Given the description of an element on the screen output the (x, y) to click on. 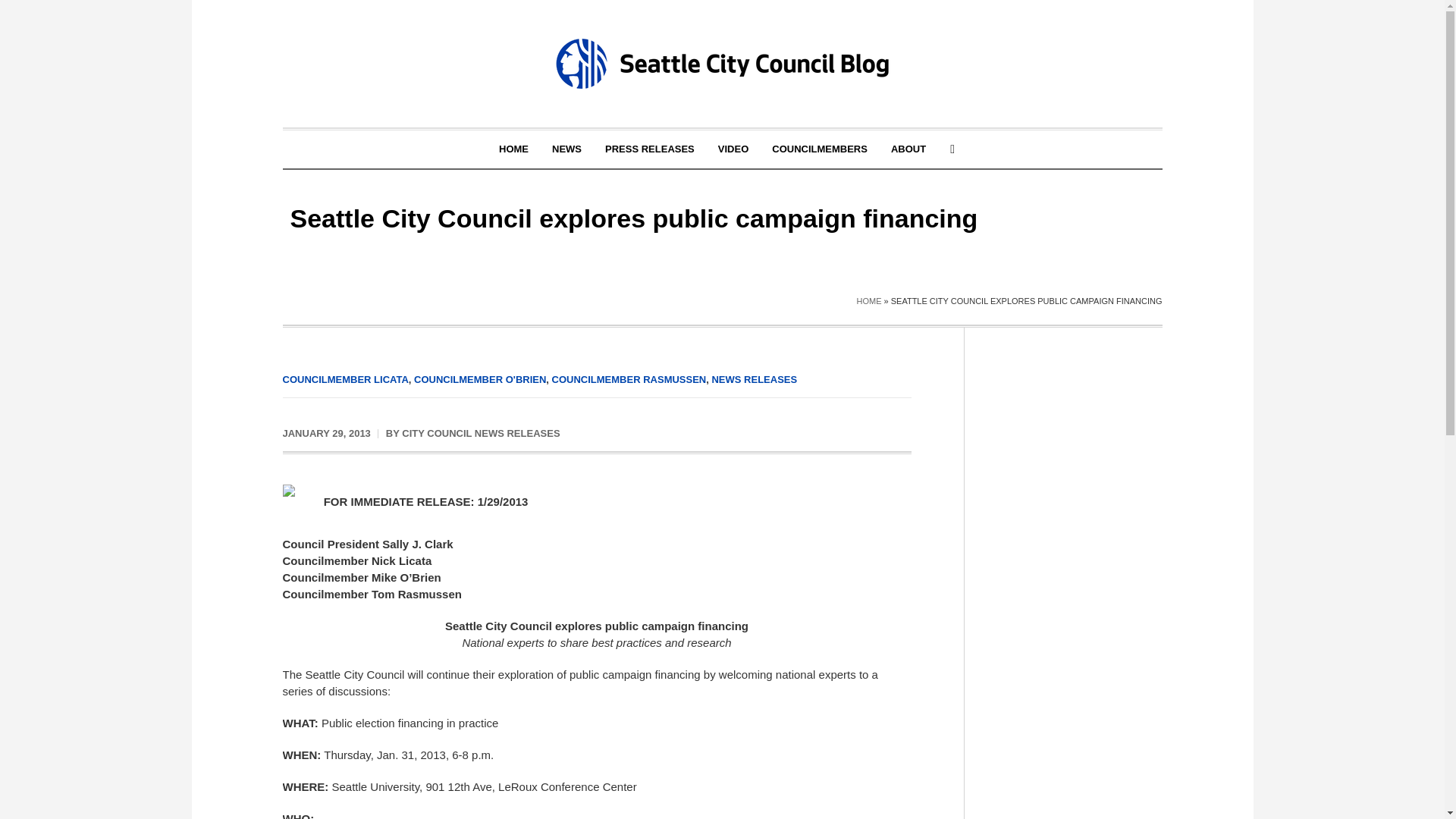
VIDEO (733, 149)
PRESS RELEASES (650, 149)
COUNCILMEMBER RASMUSSEN (628, 378)
CITY COUNCIL NEWS RELEASES (480, 432)
Posts by City Council News Releases (480, 432)
NEWS (566, 149)
NEWS RELEASES (753, 378)
HOME (868, 300)
January 29, 2013 (325, 433)
COUNCILMEMBER LICATA (344, 378)
HOME (513, 149)
ABOUT (908, 149)
COUNCILMEMBER O'BRIEN (479, 378)
COUNCILMEMBERS (819, 149)
